Given the description of an element on the screen output the (x, y) to click on. 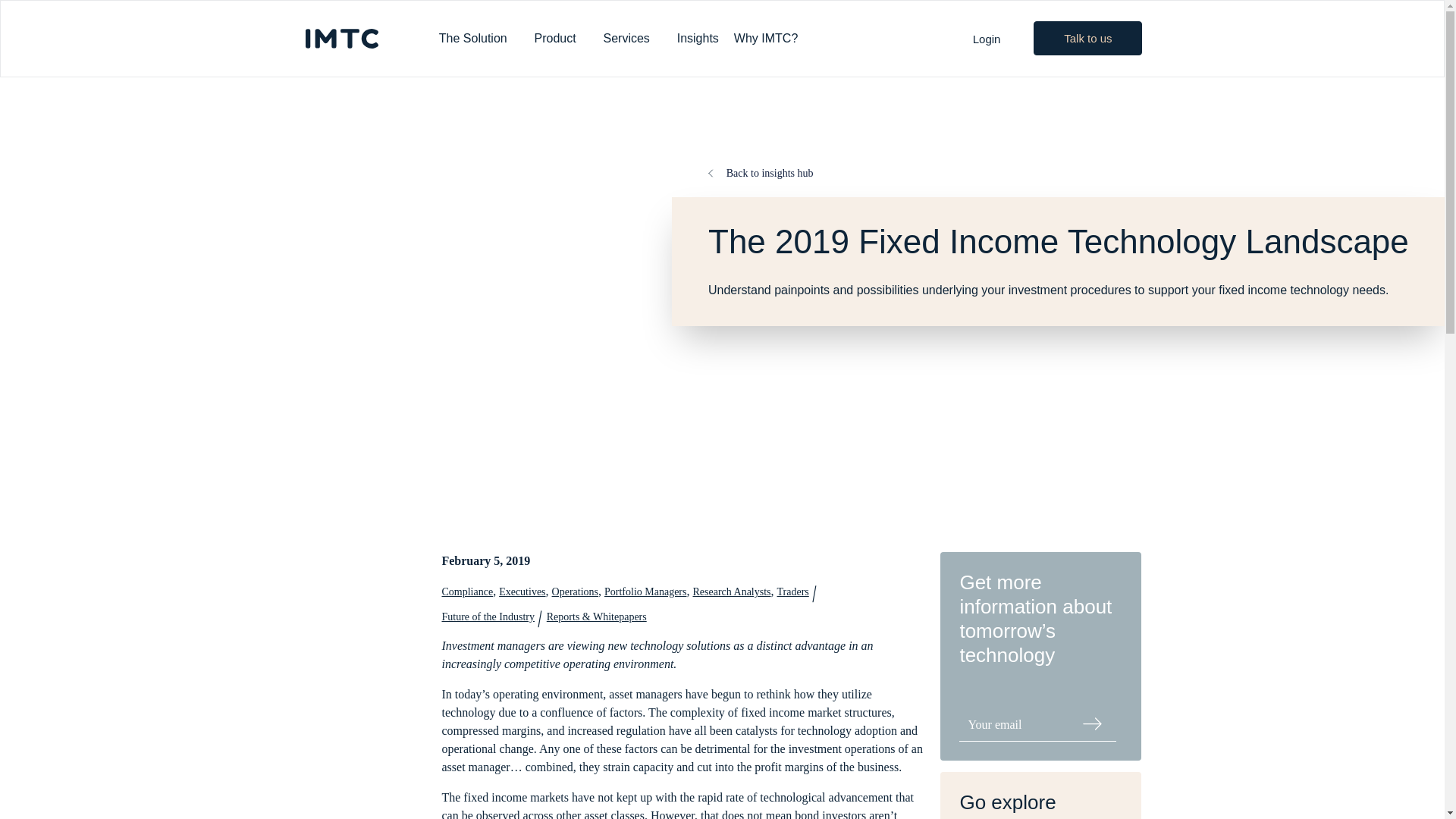
Operations (574, 591)
Insights (697, 38)
Services (632, 38)
Talk to us (1087, 38)
Executives (521, 591)
Portfolio Managers (644, 591)
Login (987, 39)
Why IMTC? (771, 38)
Back to insights hub (759, 173)
Product (561, 38)
The Solution (478, 38)
Compliance (467, 591)
